Given the description of an element on the screen output the (x, y) to click on. 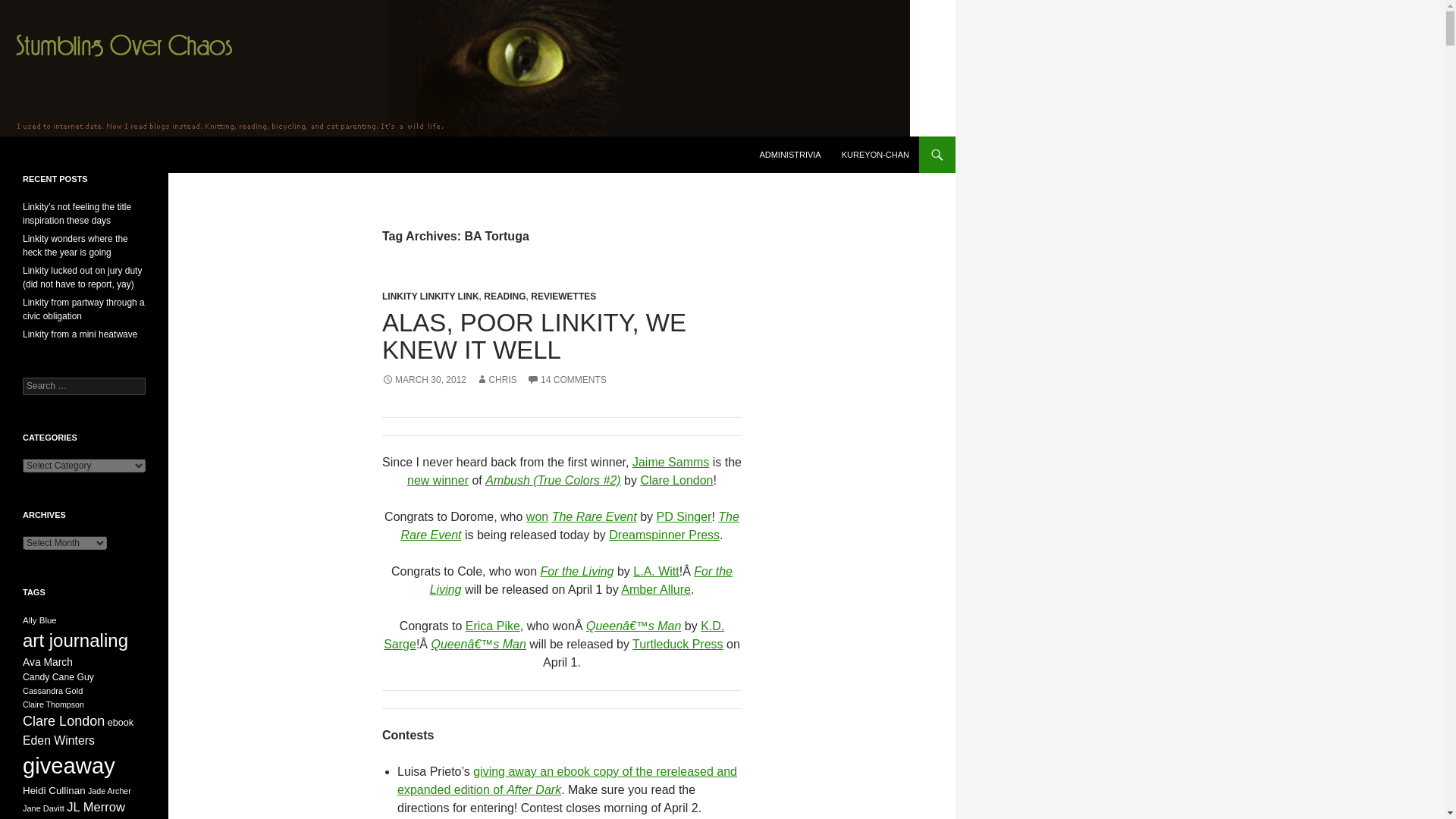
CHRIS (496, 379)
Dreamspinner Press (663, 534)
ADMINISTRIVIA (789, 154)
Amber Allure (655, 589)
Erica Pike (492, 625)
Clare London (676, 480)
Stumbling Over Chaos (96, 154)
READING (504, 296)
